Given the description of an element on the screen output the (x, y) to click on. 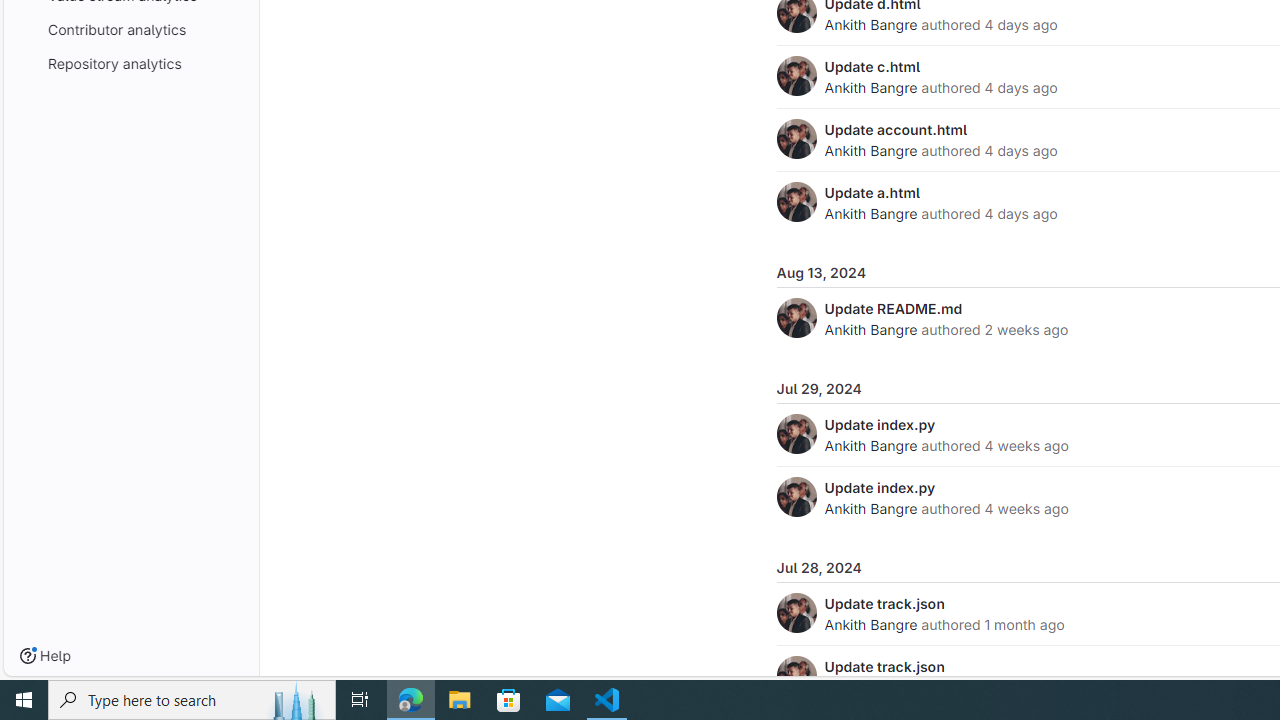
Contributor analytics (130, 28)
Ankith Bangre's avatar (795, 675)
Repository analytics (130, 62)
Update track.json (884, 666)
Ankith Bangre's avatar (795, 675)
Update account.html (895, 129)
Help (45, 655)
Update a.html (872, 192)
Update README.md (893, 308)
Update c.html (872, 66)
Update index.py (879, 487)
Repository analytics (130, 62)
Ankith Bangre (870, 624)
Contributor analytics (130, 28)
